Given the description of an element on the screen output the (x, y) to click on. 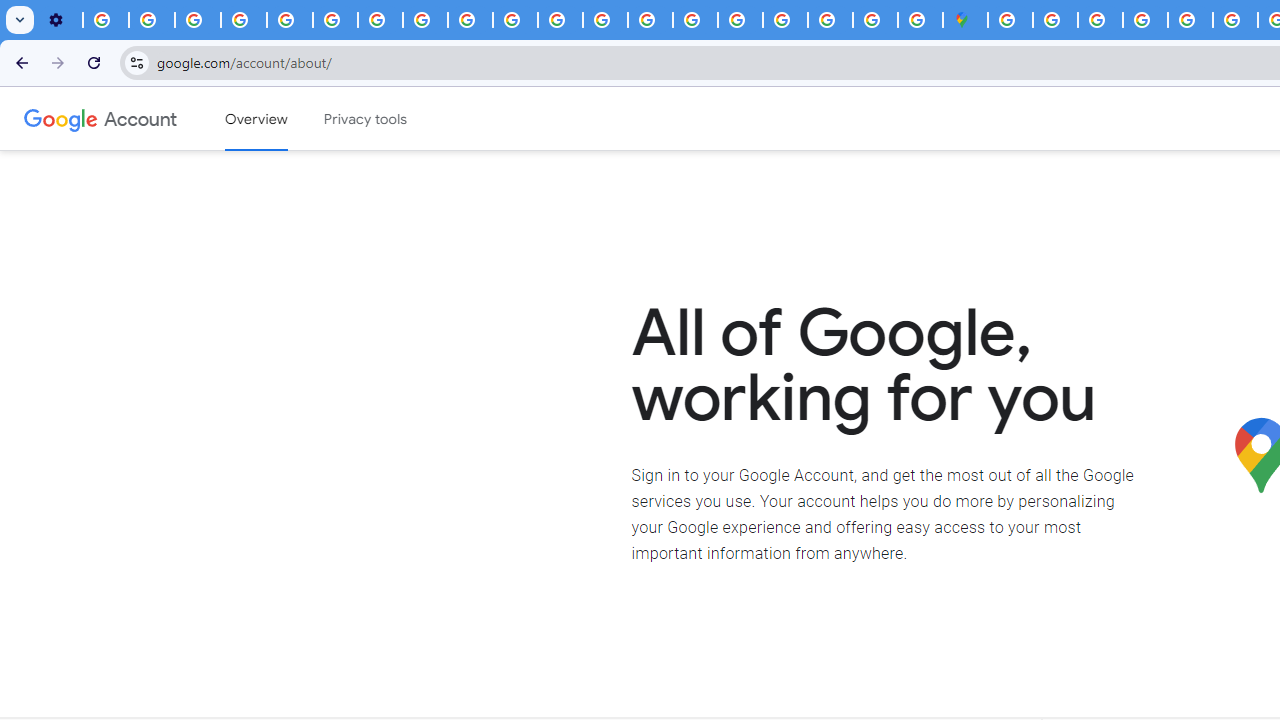
Sign in - Google Accounts (1055, 20)
Google Account overview (256, 119)
Privacy tools (365, 119)
Google logo (61, 118)
